Given the description of an element on the screen output the (x, y) to click on. 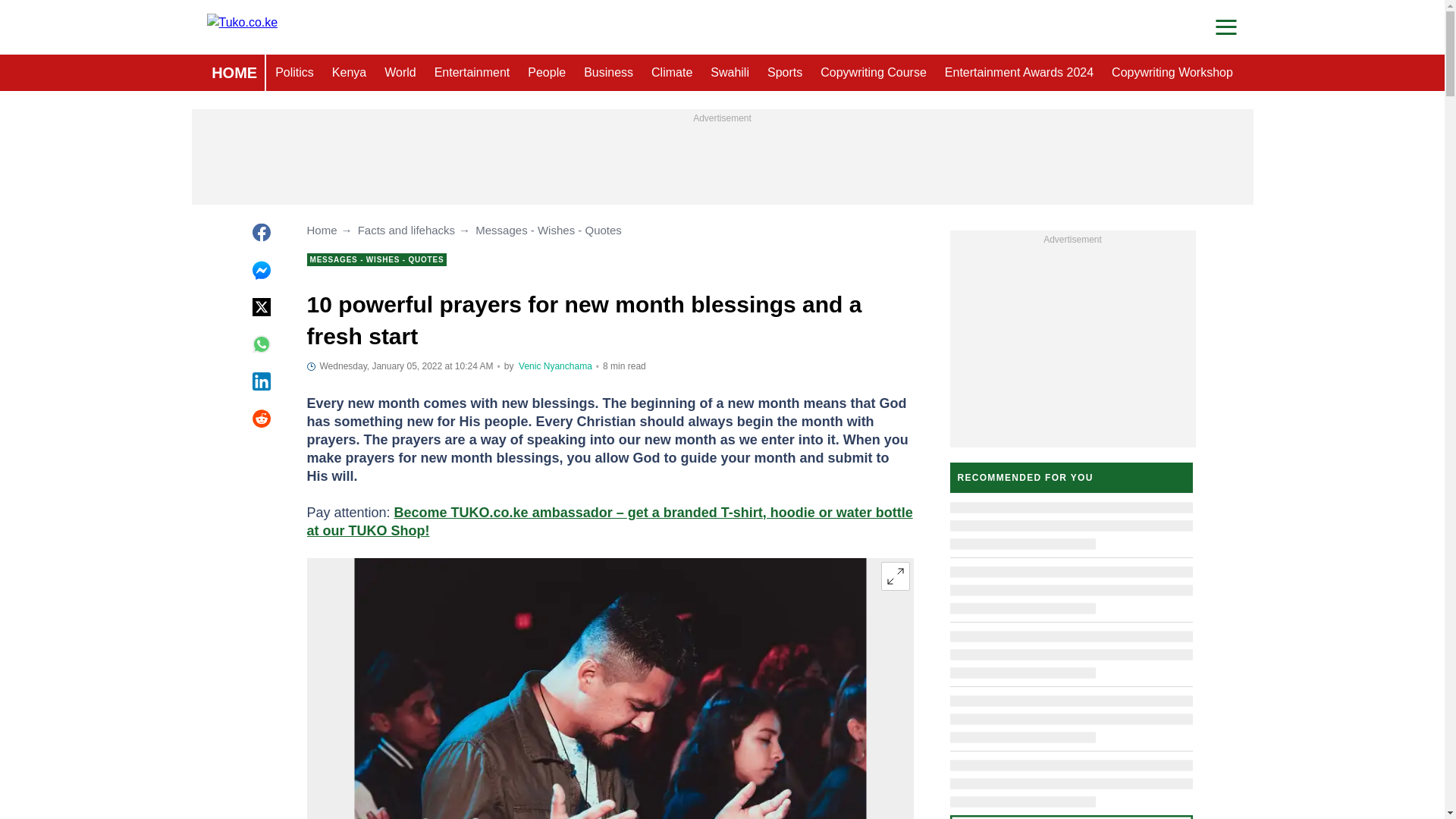
Entertainment (472, 72)
Business (608, 72)
Swahili (729, 72)
Climate (671, 72)
Entertainment Awards 2024 (1019, 72)
Kenya (349, 72)
Copywriting Course (873, 72)
Expand image (895, 575)
Copywriting Workshop (1171, 72)
Sports (784, 72)
HOME (234, 72)
prayers for new month blessings (609, 688)
People (546, 72)
Politics (294, 72)
Author page (555, 366)
